Given the description of an element on the screen output the (x, y) to click on. 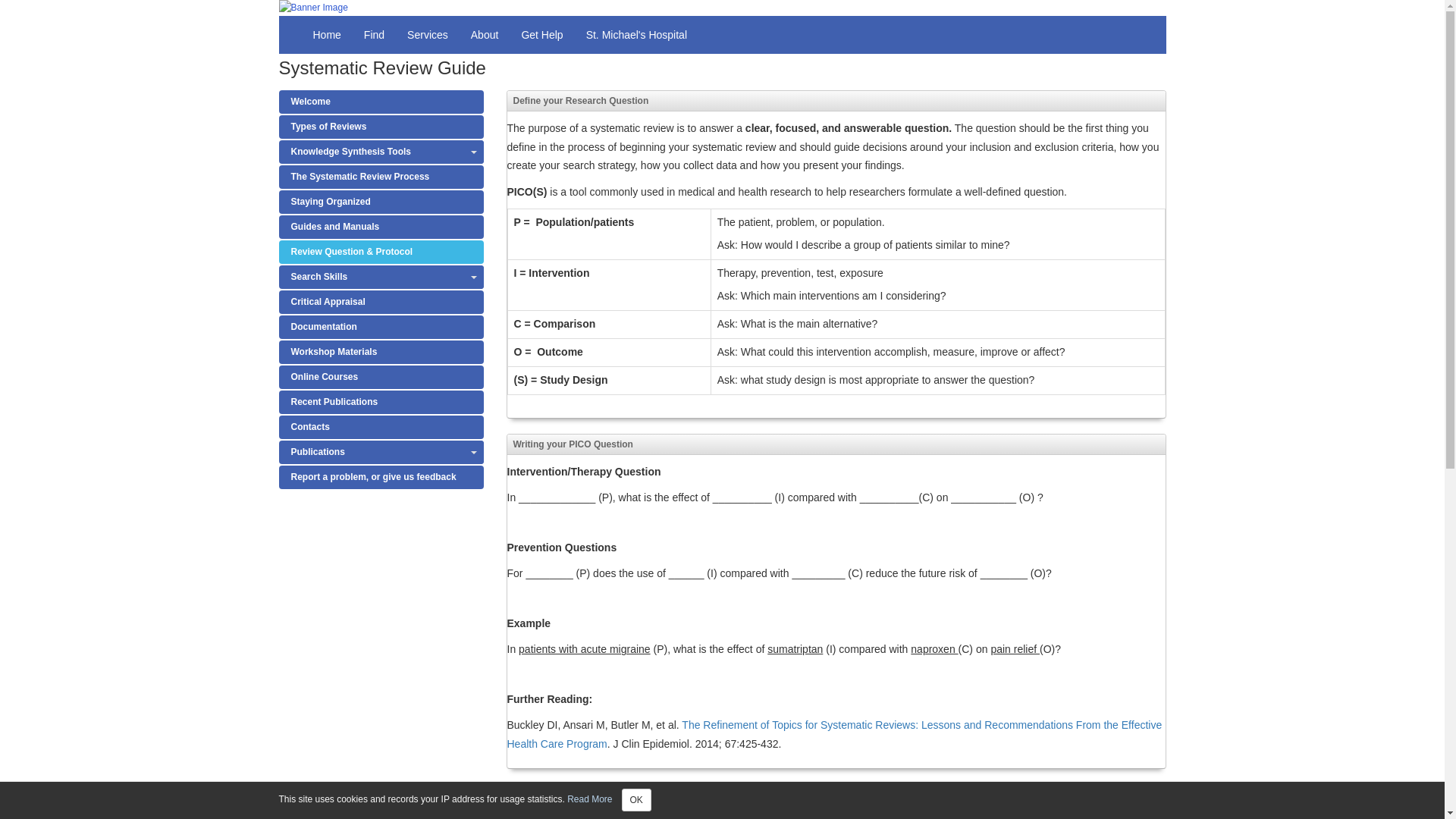
Toggle Dropdown (473, 277)
Welcome (381, 101)
Documentation (381, 327)
Home (326, 34)
Knowledge Synthesis Tools (381, 151)
St. Michael's Hospital (636, 34)
Read More (589, 798)
Find (374, 34)
Search Skills (381, 277)
Critical Appraisal (381, 301)
